Given the description of an element on the screen output the (x, y) to click on. 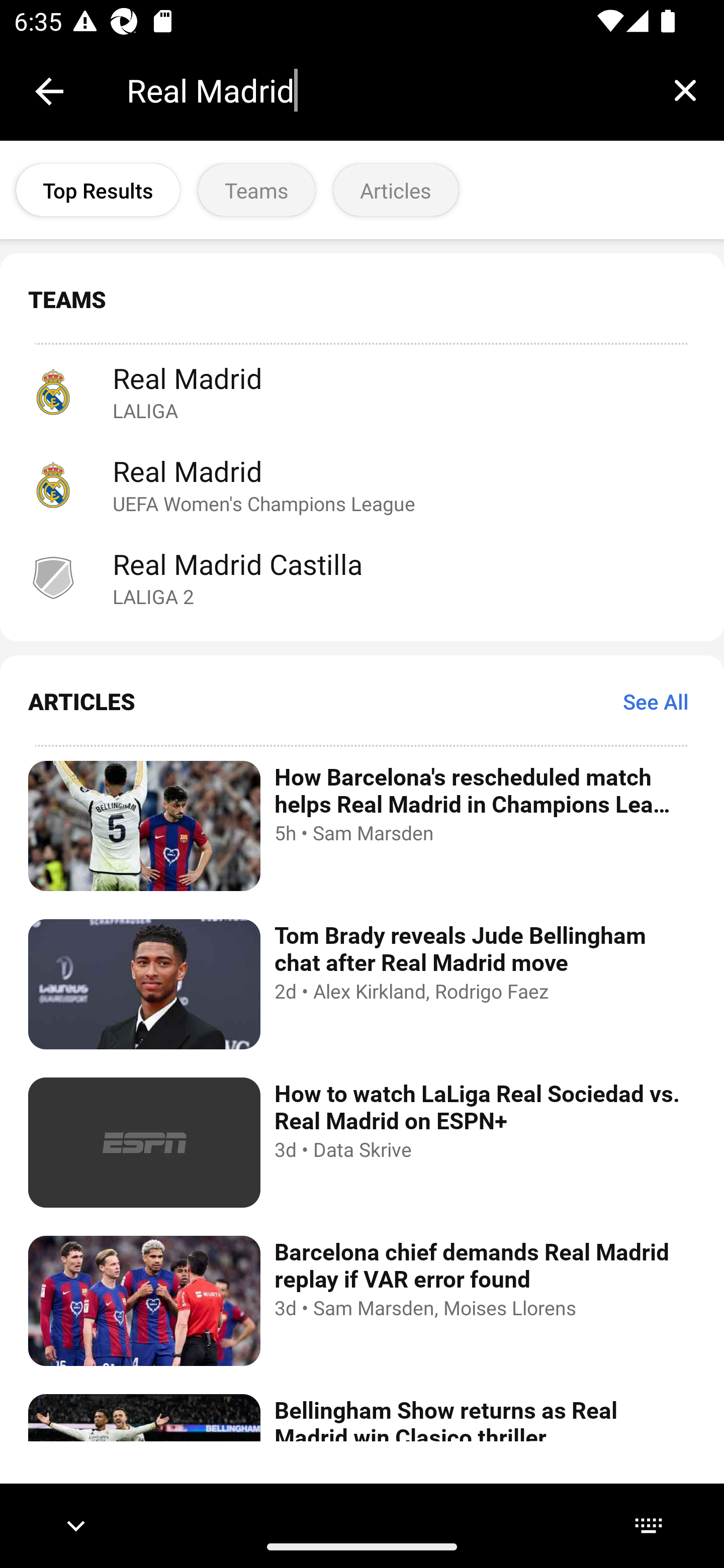
Collapse (49, 91)
Clear query (685, 89)
Real Madrid (386, 90)
Top Results (97, 190)
Teams (256, 190)
Articles (395, 190)
Real Madrid : LALIGA Real Madrid LALIGA (362, 390)
See All (655, 701)
